Given the description of an element on the screen output the (x, y) to click on. 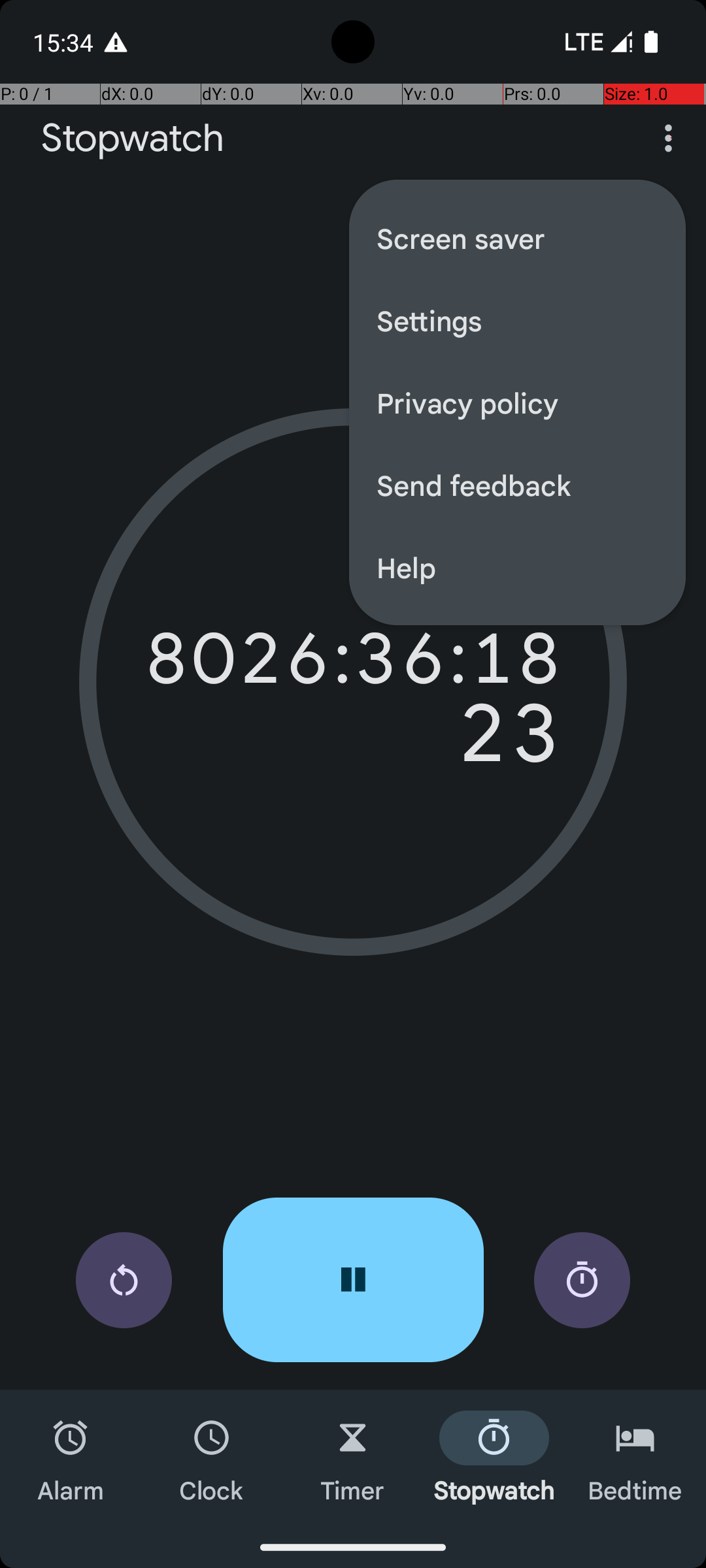
Screen saver Element type: android.widget.TextView (517, 237)
Privacy policy Element type: android.widget.TextView (517, 402)
Send feedback Element type: android.widget.TextView (517, 484)
Help Element type: android.widget.TextView (517, 566)
